Given the description of an element on the screen output the (x, y) to click on. 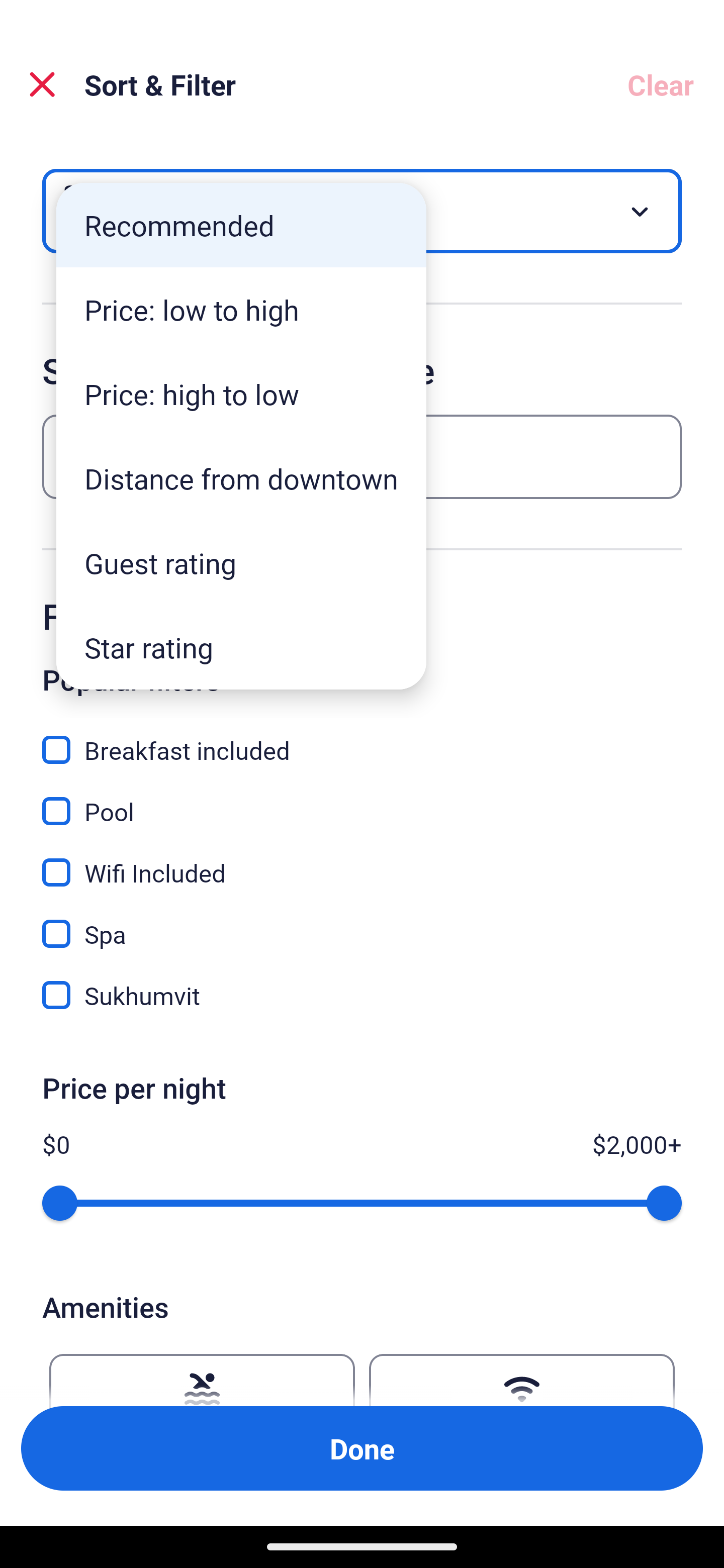
Price: low to high (241, 309)
Price: high to low (241, 393)
Distance from downtown (241, 477)
Guest rating (241, 562)
Star rating (241, 647)
